Given the description of an element on the screen output the (x, y) to click on. 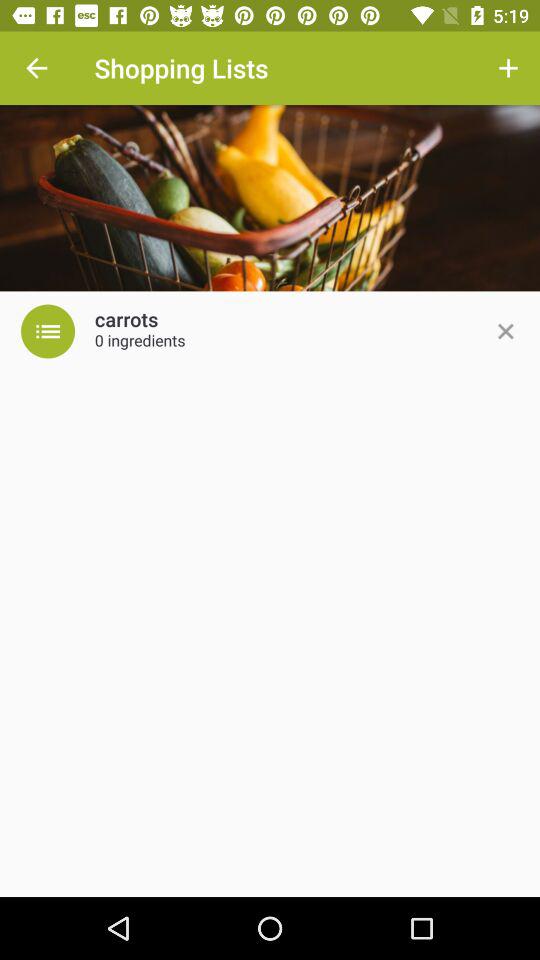
press icon next to carrots item (48, 331)
